Given the description of an element on the screen output the (x, y) to click on. 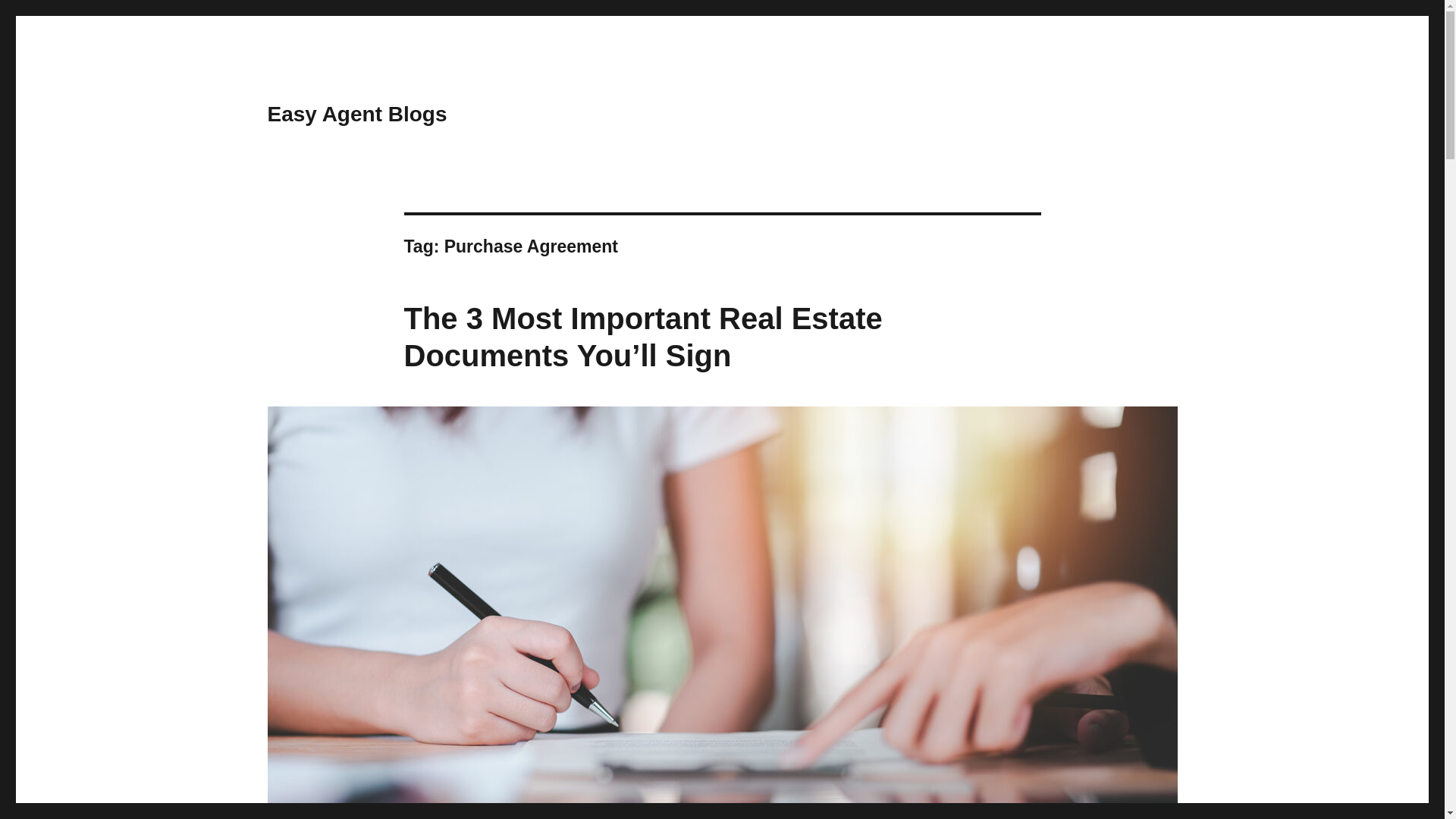
Easy Agent Blogs (356, 114)
